Given the description of an element on the screen output the (x, y) to click on. 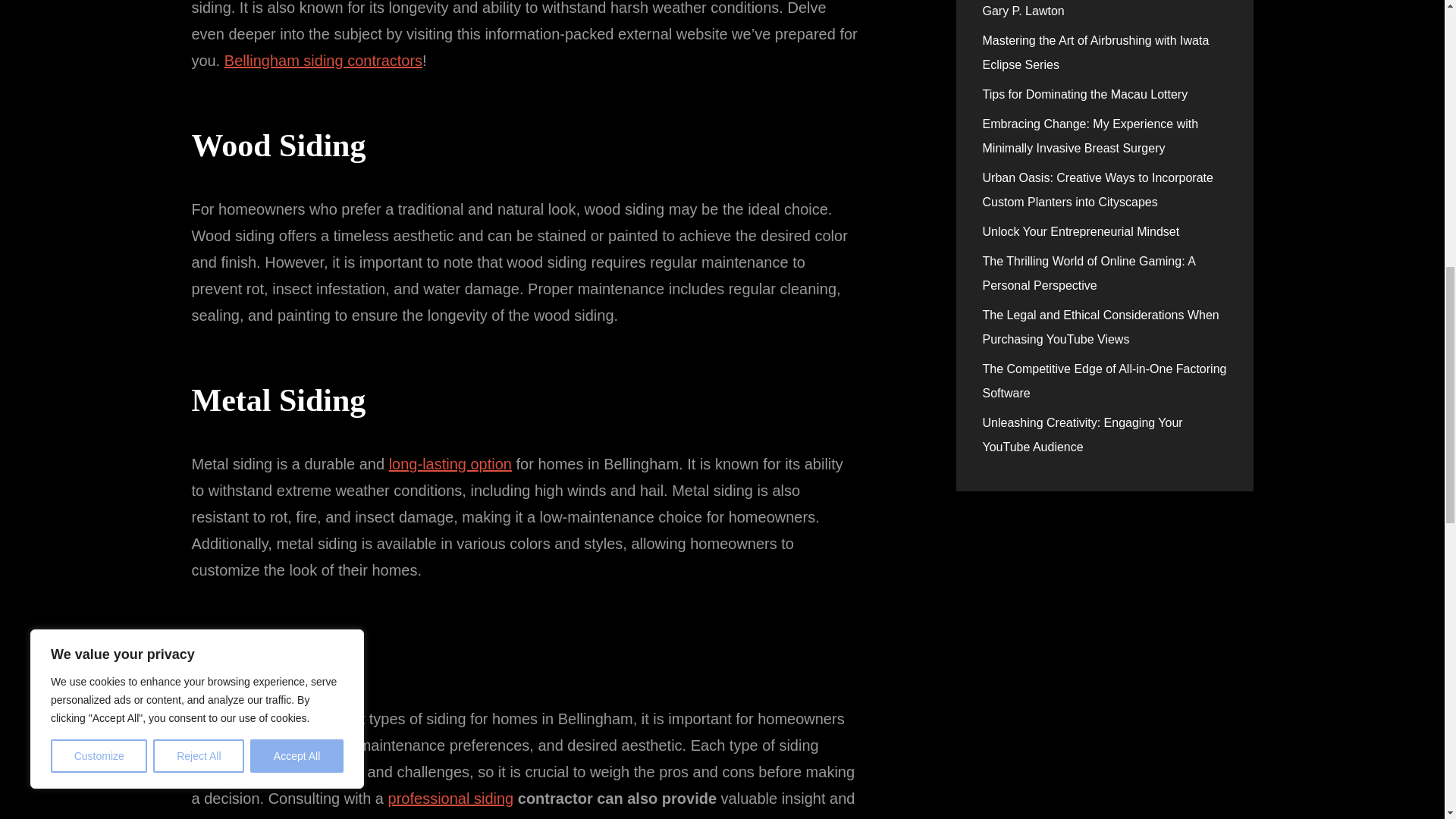
long-lasting option (450, 463)
Tips for Dominating the Macau Lottery (1085, 93)
professional siding (450, 798)
Bellingham siding contractors (323, 60)
Mastering the Art of Airbrushing with Iwata Eclipse Series (1095, 52)
Embracing Change and Innovation with Dr. Gary P. Lawton (1097, 8)
